Given the description of an element on the screen output the (x, y) to click on. 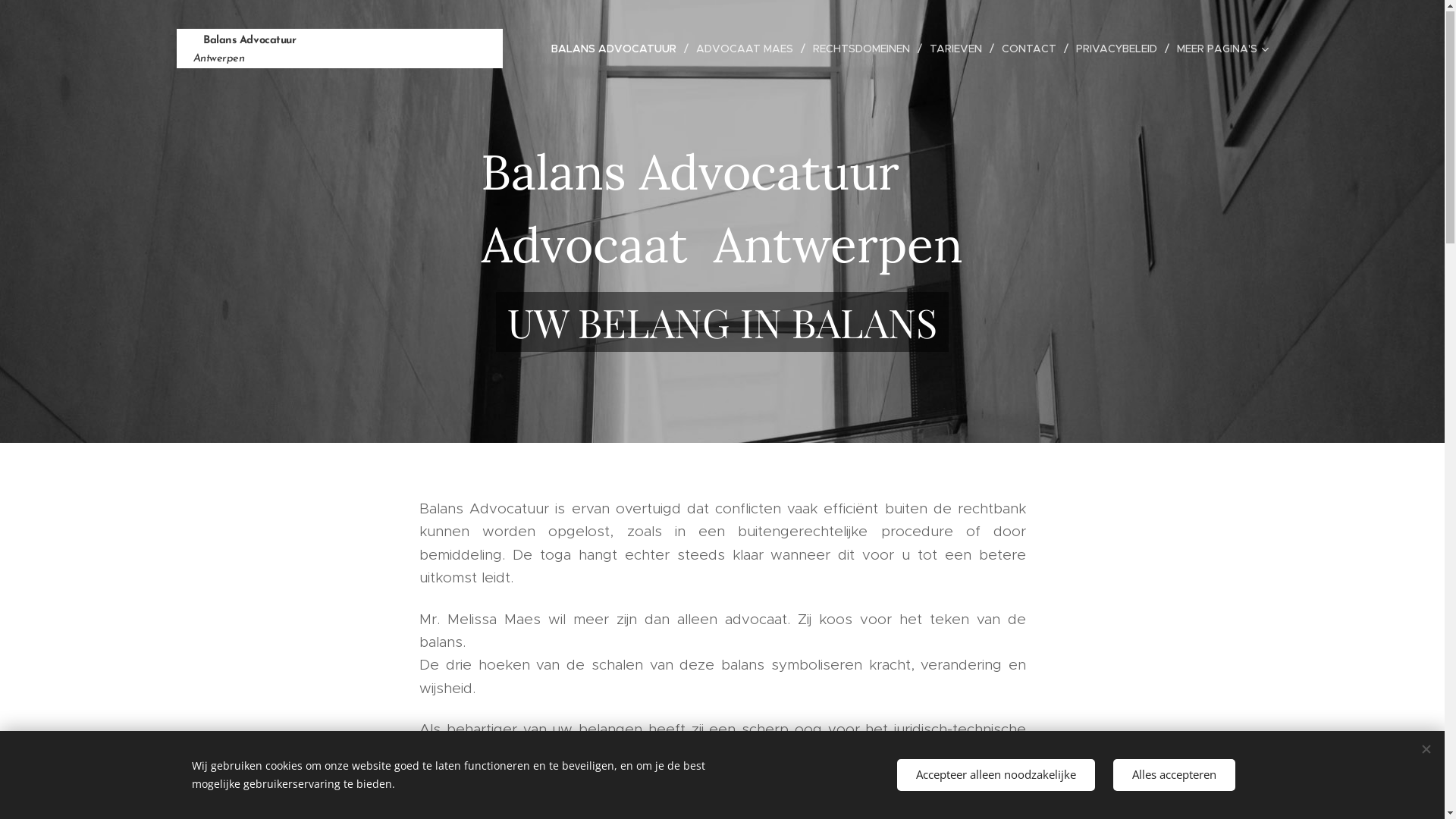
Alles accepteren Element type: text (1174, 774)
BALANS ADVOCATUUR Element type: text (617, 49)
CONTACT Element type: text (1030, 49)
RECHTSDOMEINEN Element type: text (863, 49)
ADVOCAAT MAES Element type: text (746, 49)
PRIVACYBELEID Element type: text (1117, 49)
MEER PAGINA'S Element type: text (1218, 49)
Accepteer alleen noodzakelijke Element type: text (995, 774)
TARIEVEN Element type: text (958, 49)
